Given the description of an element on the screen output the (x, y) to click on. 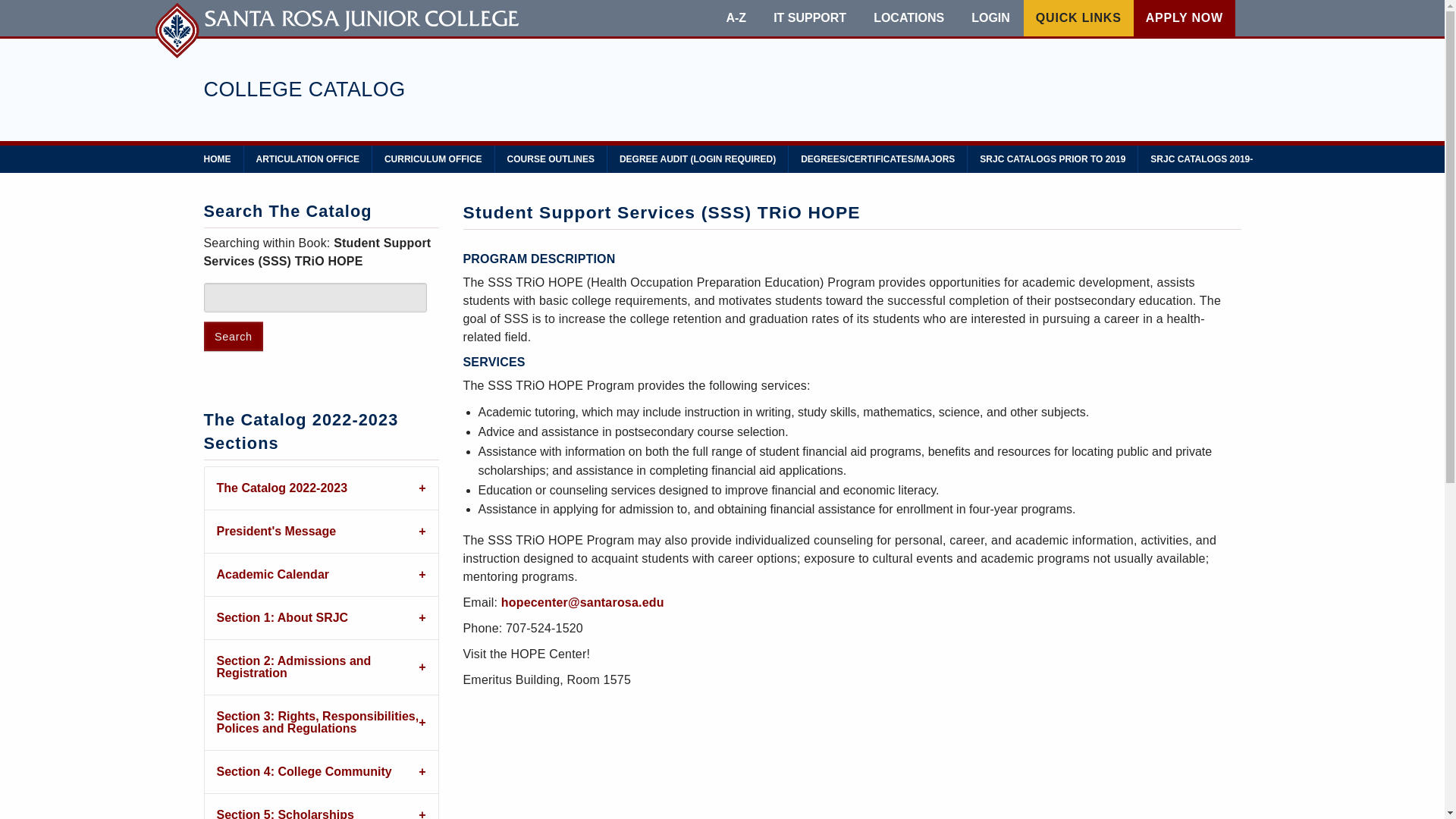
COURSE OUTLINES (551, 158)
ARTICULATION OFFICE (307, 158)
CURRICULUM OFFICE (433, 158)
COLLEGE CATALOG (303, 88)
SRJC CATALOGS 2019-PRESENT (1222, 158)
SRJC CATALOGS PRIOR TO 2019 (1052, 158)
A-Z (735, 18)
IT SUPPORT (809, 18)
HOME (216, 158)
